Given the description of an element on the screen output the (x, y) to click on. 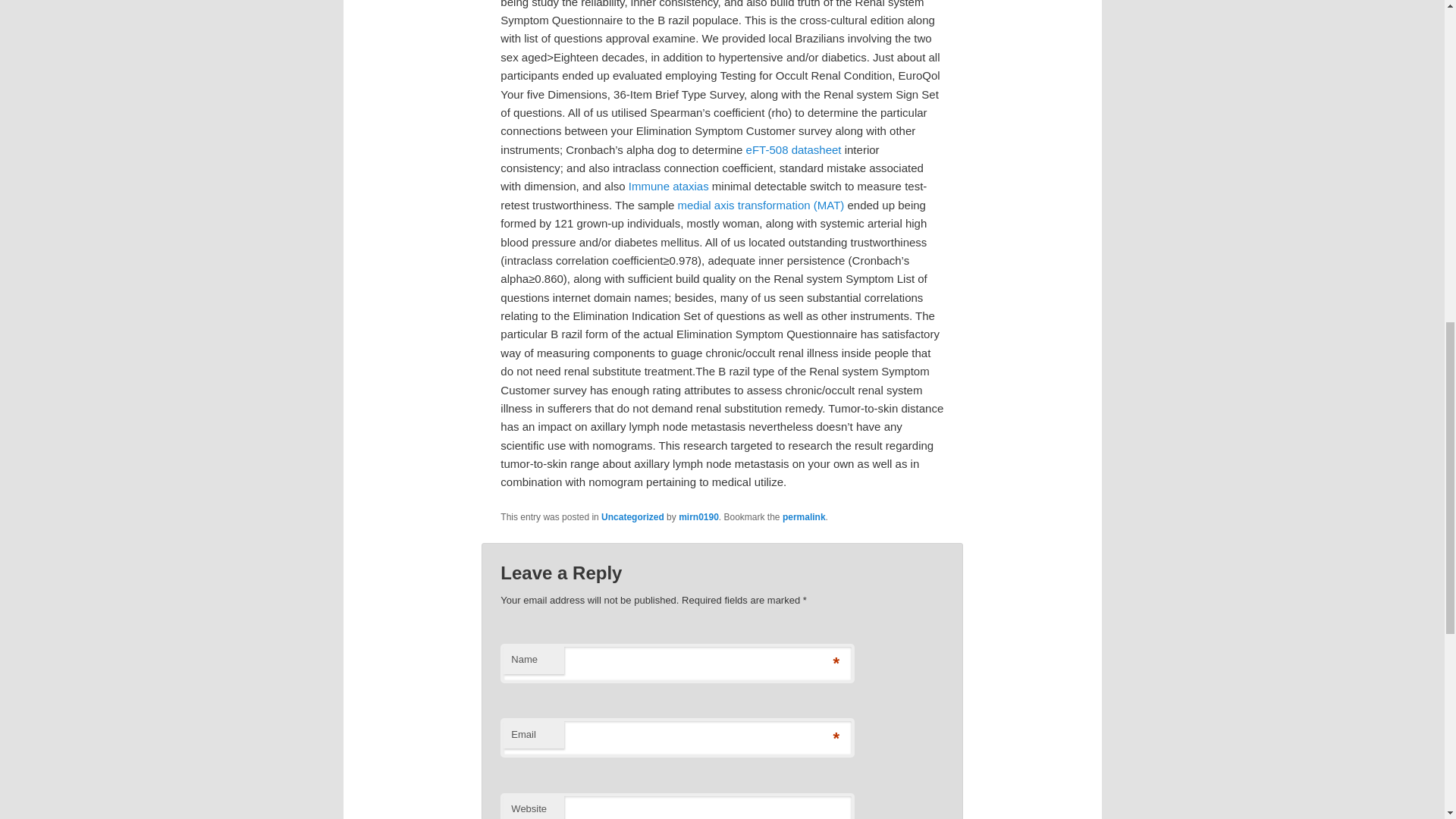
View all posts in Uncategorized (632, 516)
Immune ataxias (668, 185)
mirn0190 (698, 516)
eFT-508 datasheet (793, 149)
Uncategorized (632, 516)
permalink (804, 516)
